Given the description of an element on the screen output the (x, y) to click on. 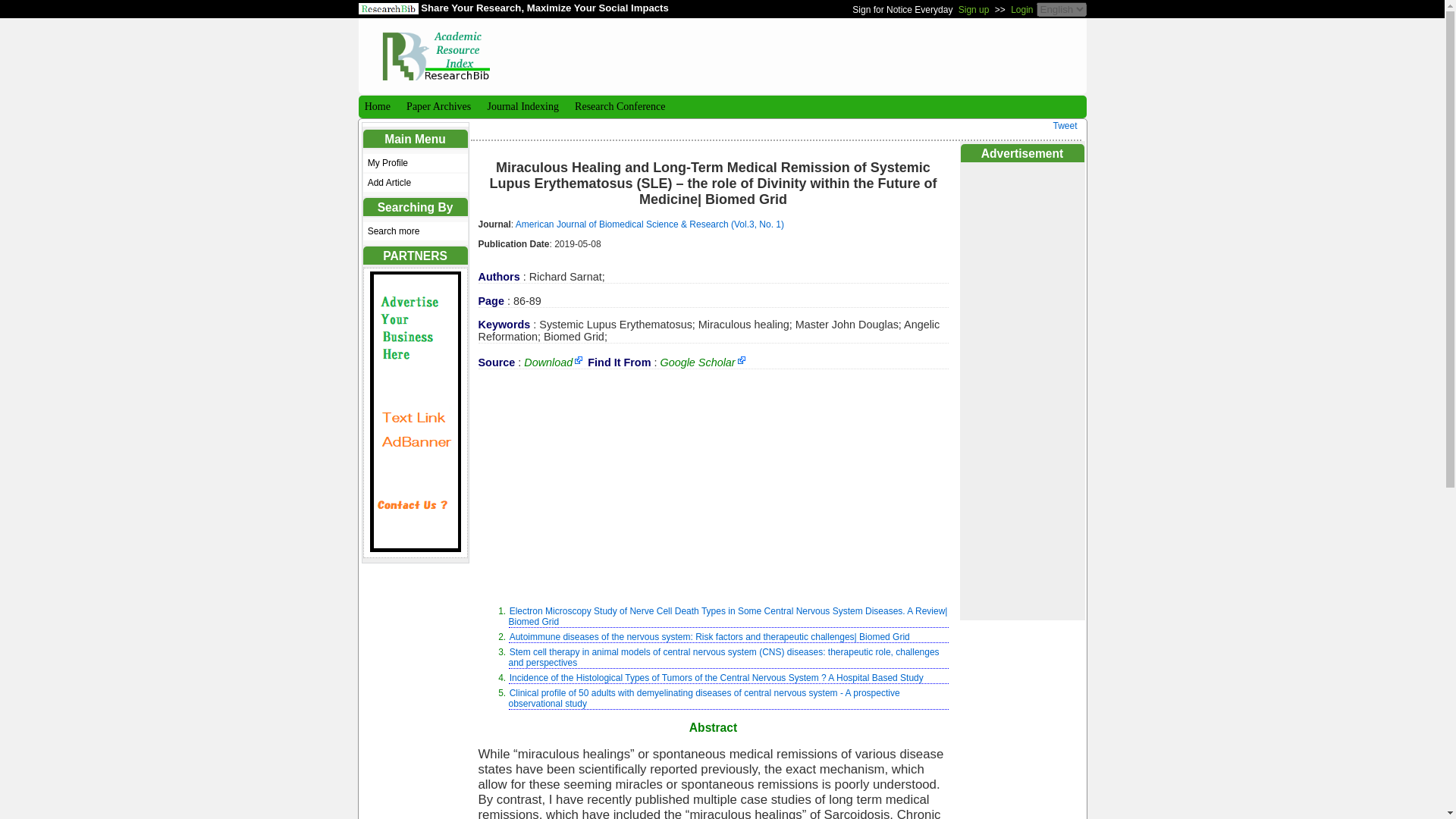
Journal Indexing (521, 106)
Login (1021, 9)
Sign up (973, 9)
My Profile (414, 162)
Login (1021, 9)
Paper Archives (437, 106)
Sign up (973, 9)
Tweet (1064, 125)
Search more (414, 230)
Research Conference (619, 106)
Add Article (414, 182)
Home (375, 106)
Research Bible (435, 49)
